Given the description of an element on the screen output the (x, y) to click on. 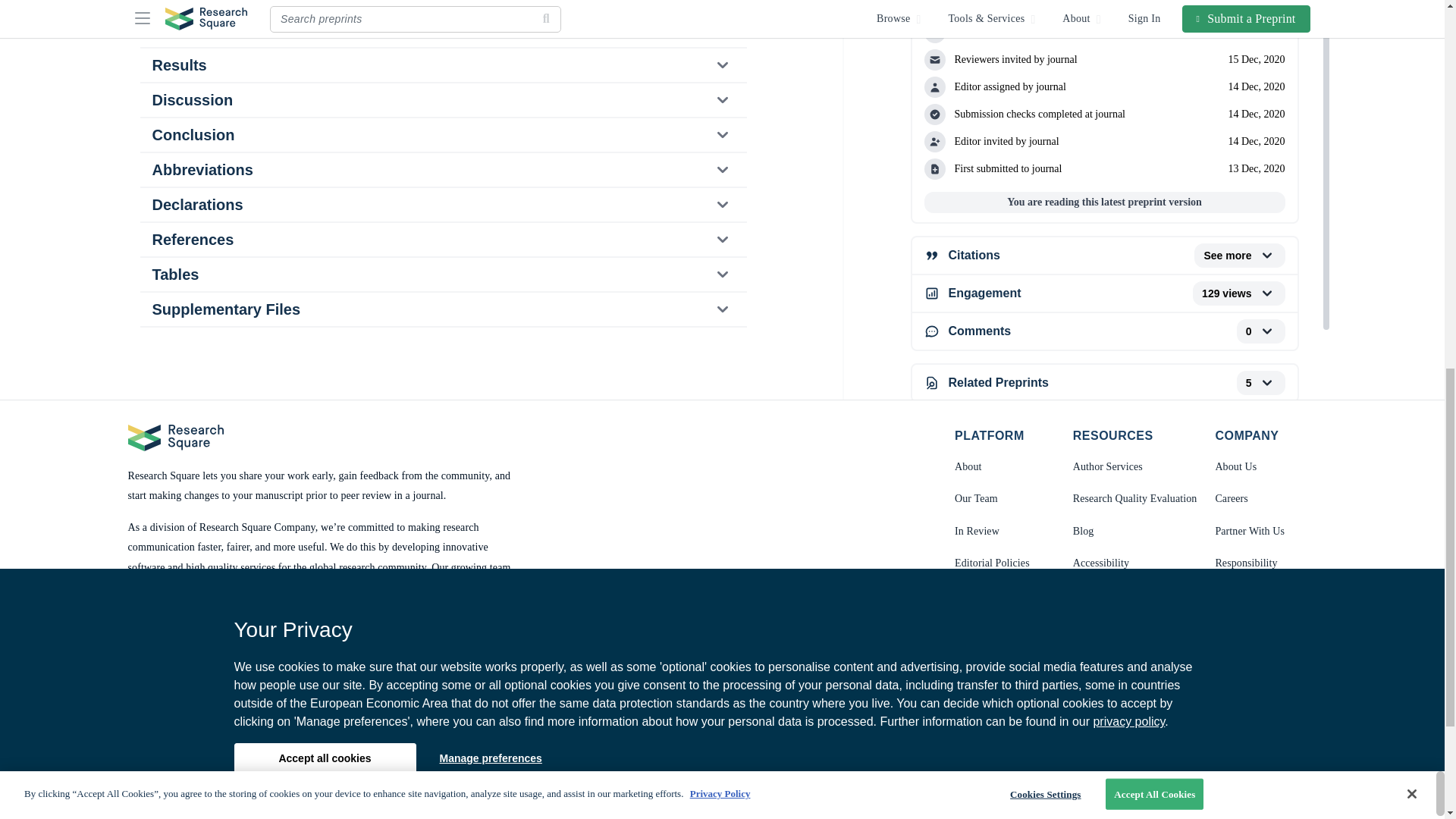
Results (442, 64)
Discussion (442, 100)
Methods (442, 29)
Background (442, 6)
